Given the description of an element on the screen output the (x, y) to click on. 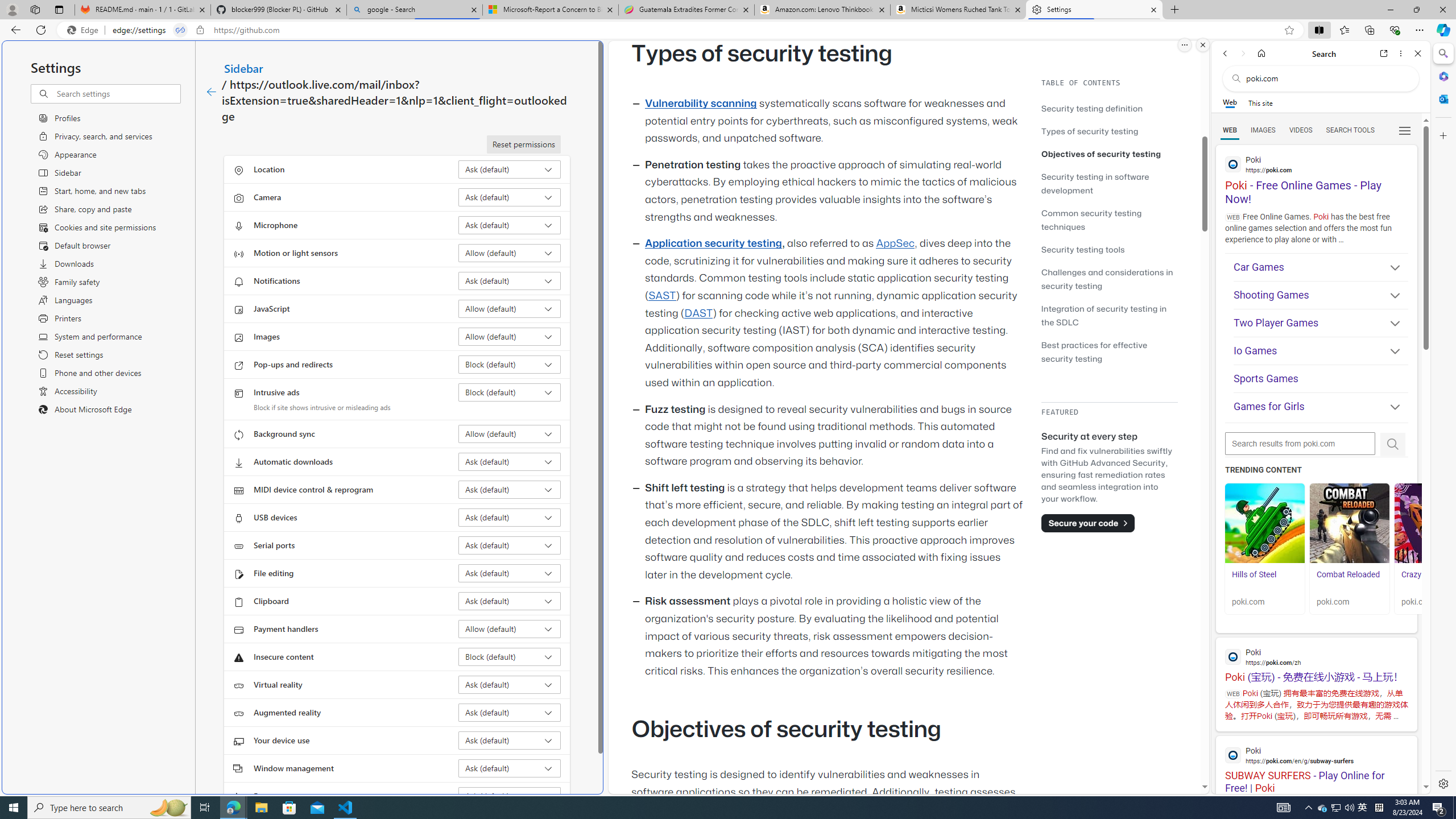
Outlook (1442, 98)
Search the web (1326, 78)
Show More Games for Girls (1390, 407)
Window management Ask (default) (509, 768)
Vulnerability scanning (701, 103)
Augmented reality Ask (default) (509, 712)
More options. (1183, 45)
Search settings (117, 93)
WEB   (1230, 130)
Motion or light sensors Allow (default) (509, 253)
Insecure content Block (default) (509, 656)
